Given the description of an element on the screen output the (x, y) to click on. 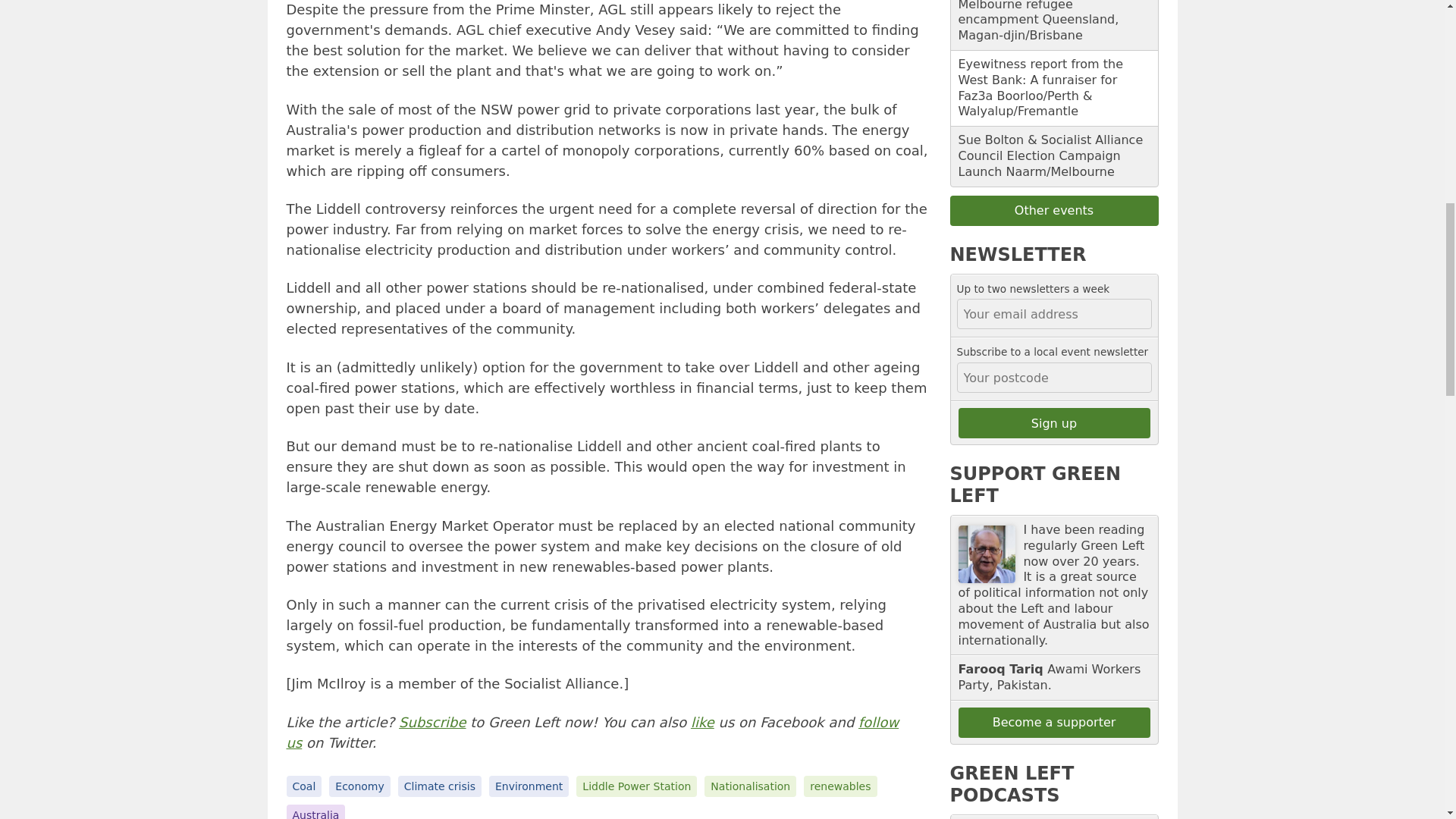
Sign up (1054, 422)
